Given the description of an element on the screen output the (x, y) to click on. 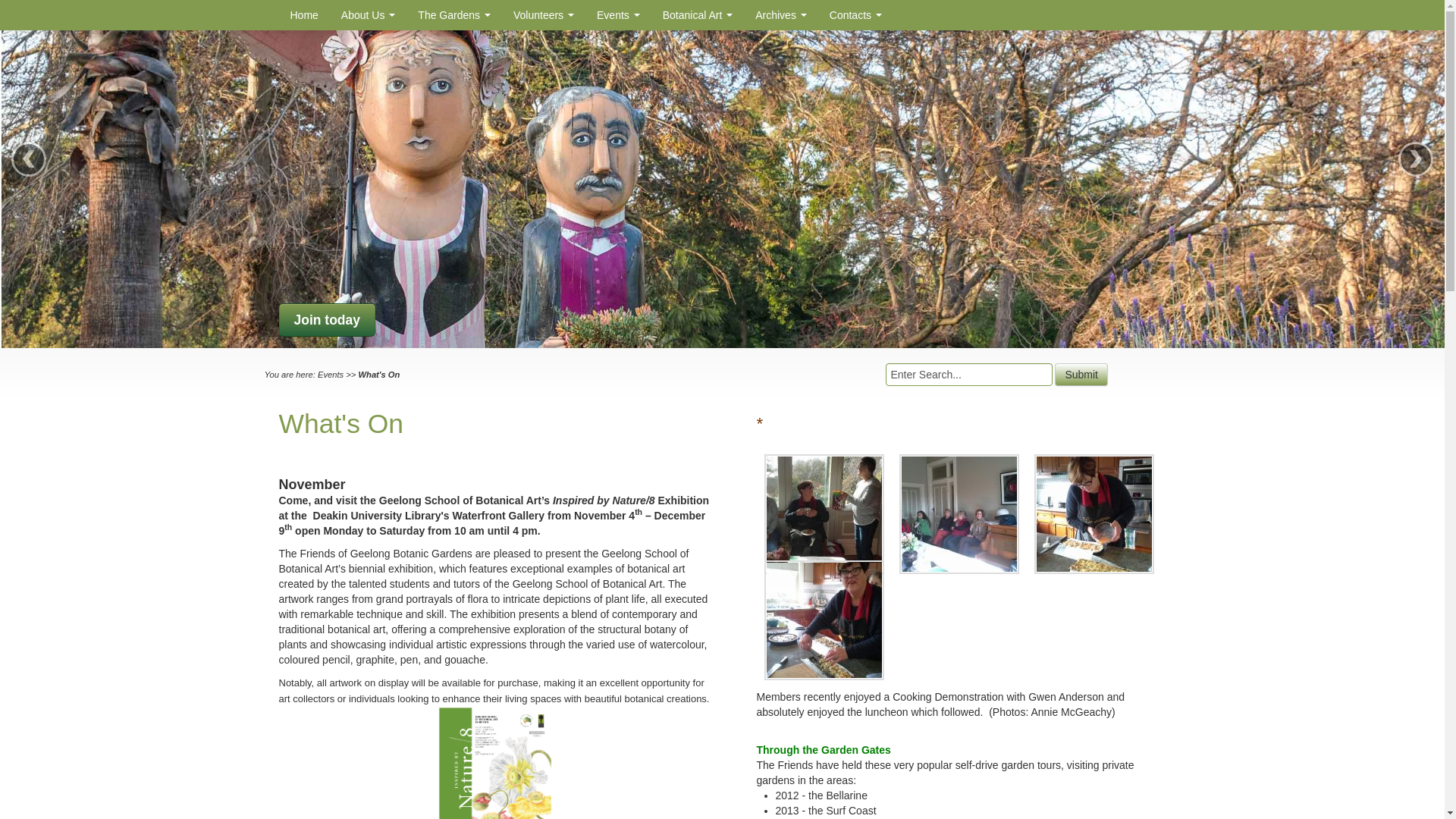
Archives Element type: text (780, 15)
Volunteers Element type: text (543, 15)
GroupGwenClass.jpg Element type: hover (959, 514)
About Us Element type: text (367, 15)
Botanical Art Element type: text (697, 15)
Join today Element type: text (327, 319)
Contacts Element type: text (855, 15)
Events Element type: text (618, 15)
Home Element type: text (304, 15)
AllisonThankingGwen.jpg Element type: hover (824, 514)
The Gardens Element type: text (454, 15)
GwenDemonstration.jpg Element type: hover (1094, 514)
SamplingClass.jpg Element type: hover (824, 620)
Submit Element type: text (1080, 374)
